Given the description of an element on the screen output the (x, y) to click on. 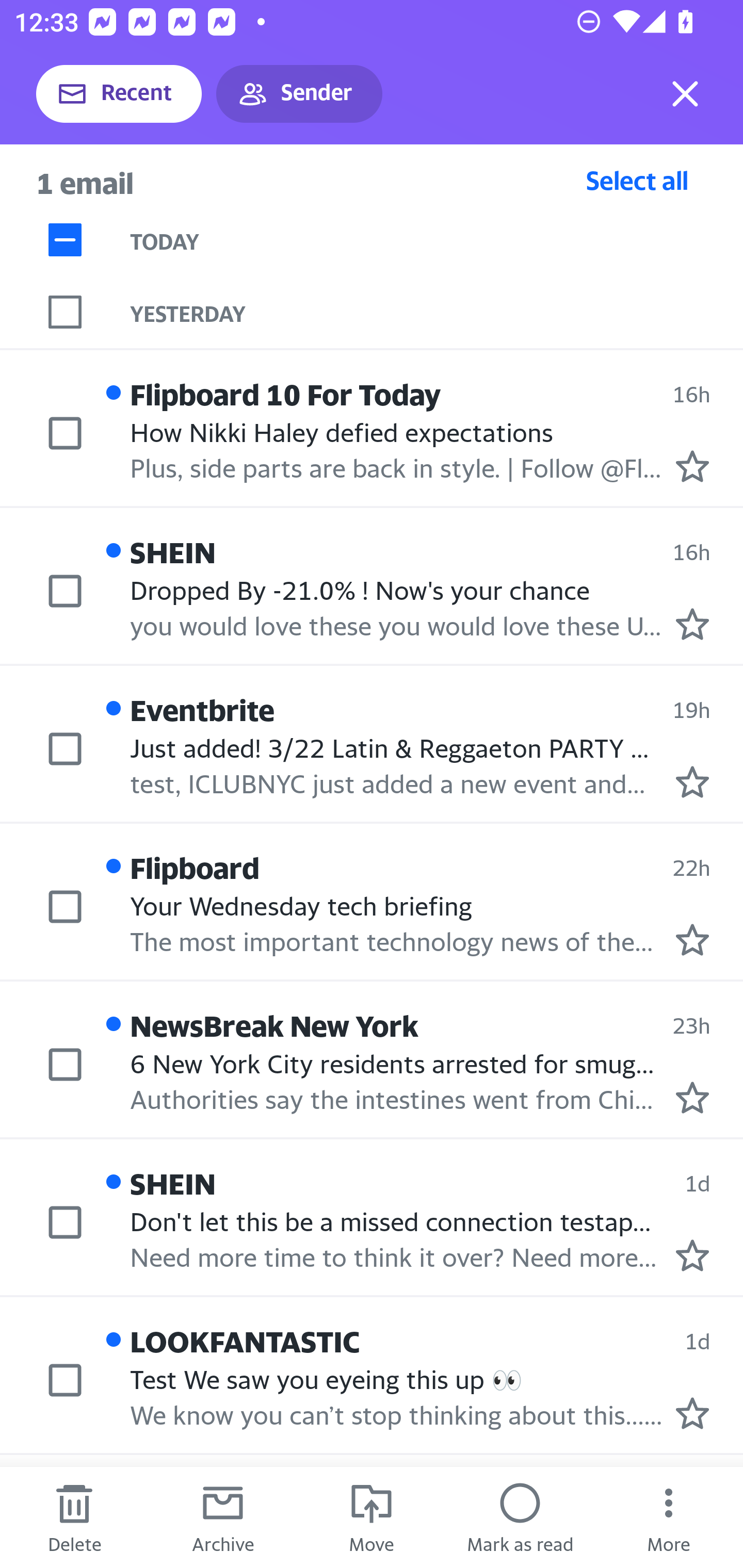
Sender (299, 93)
Exit selection mode (684, 93)
Select all (637, 180)
YESTERDAY (436, 311)
Mark as starred. (692, 466)
Mark as starred. (692, 624)
Mark as starred. (692, 781)
Mark as starred. (692, 939)
Mark as starred. (692, 1097)
Mark as starred. (692, 1255)
Mark as starred. (692, 1413)
Delete (74, 1517)
Archive (222, 1517)
Move (371, 1517)
Mark as read (519, 1517)
More (668, 1517)
